Given the description of an element on the screen output the (x, y) to click on. 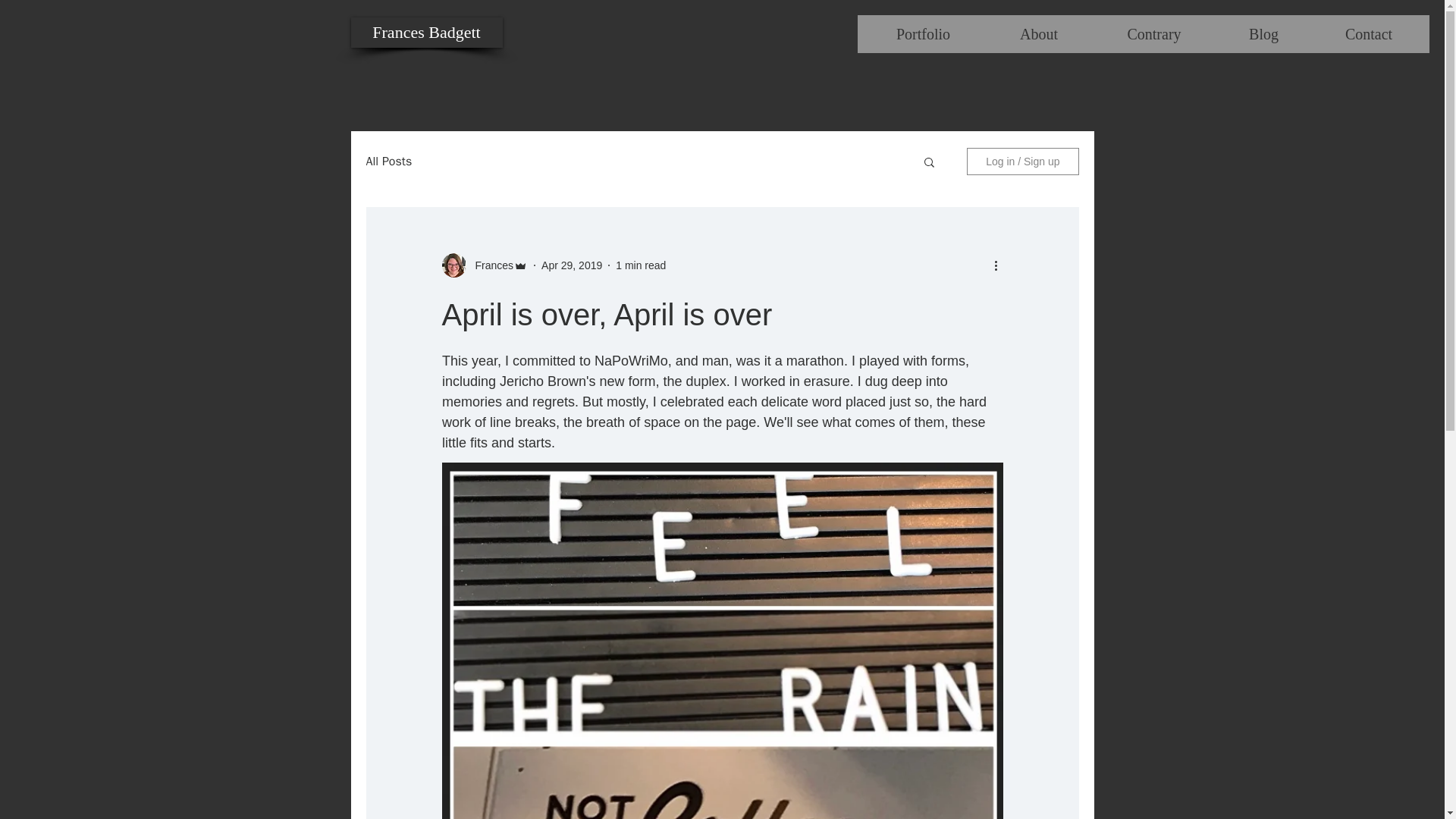
Apr 29, 2019 (571, 265)
Blog (1263, 34)
Frances Badgett (426, 32)
About (1037, 34)
All Posts (388, 160)
1 min read (640, 265)
Frances (489, 265)
Contrary (1153, 34)
Portfolio (922, 34)
Contact (1368, 34)
